Given the description of an element on the screen output the (x, y) to click on. 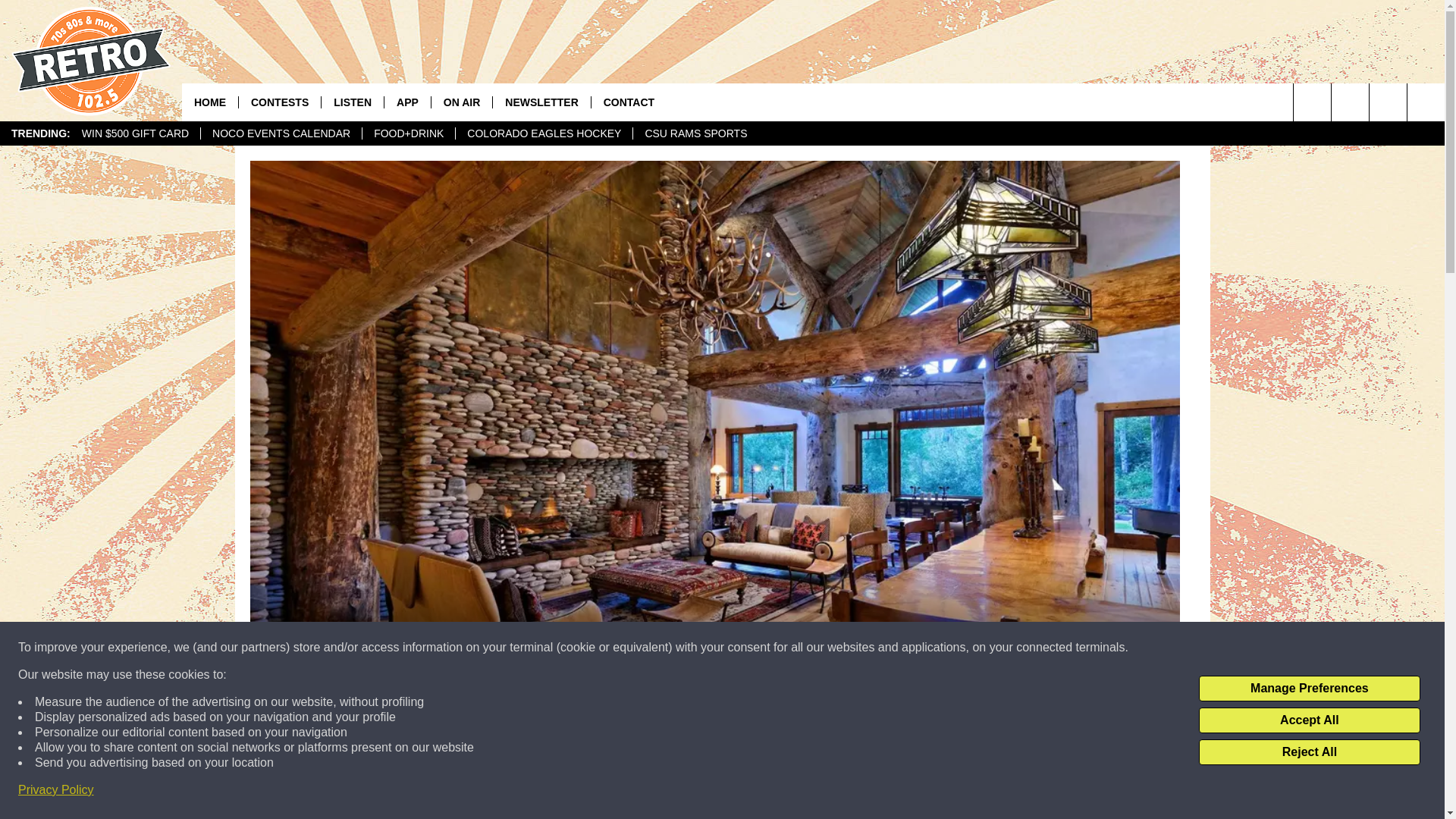
Share on Twitter (912, 791)
APP (407, 102)
Share on Facebook (517, 791)
NEWSLETTER (540, 102)
CONTESTS (279, 102)
Privacy Policy (55, 789)
Reject All (1309, 751)
LISTEN (352, 102)
ON AIR (461, 102)
NOCO EVENTS CALENDAR (280, 133)
Accept All (1309, 720)
CONTACT (628, 102)
HOME (210, 102)
CSU RAMS SPORTS (694, 133)
COLORADO EAGLES HOCKEY (542, 133)
